Given the description of an element on the screen output the (x, y) to click on. 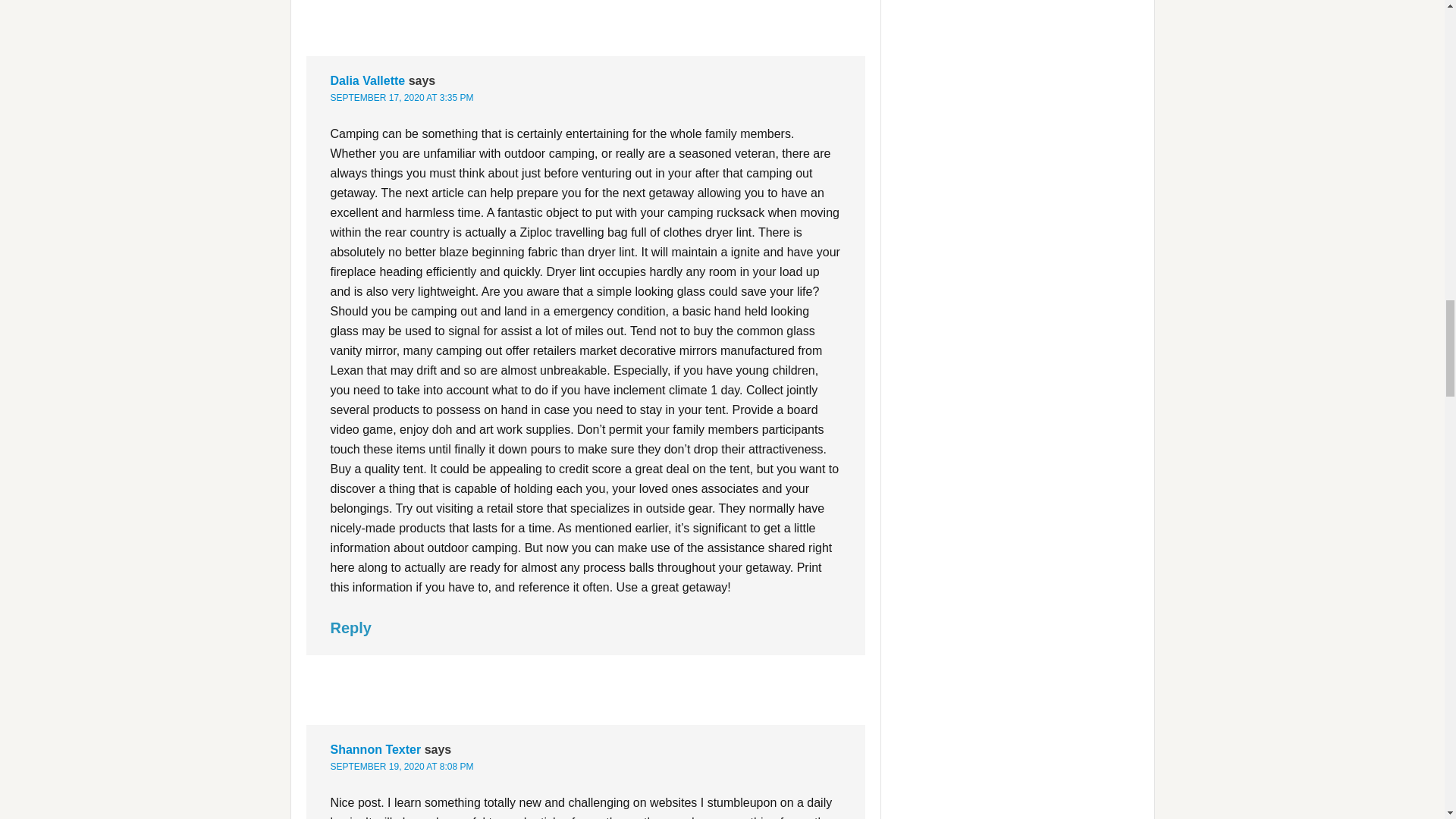
Reply (350, 627)
Shannon Texter (376, 748)
Dalia Vallette (368, 80)
SEPTEMBER 19, 2020 AT 8:08 PM (402, 766)
SEPTEMBER 17, 2020 AT 3:35 PM (402, 97)
